Given the description of an element on the screen output the (x, y) to click on. 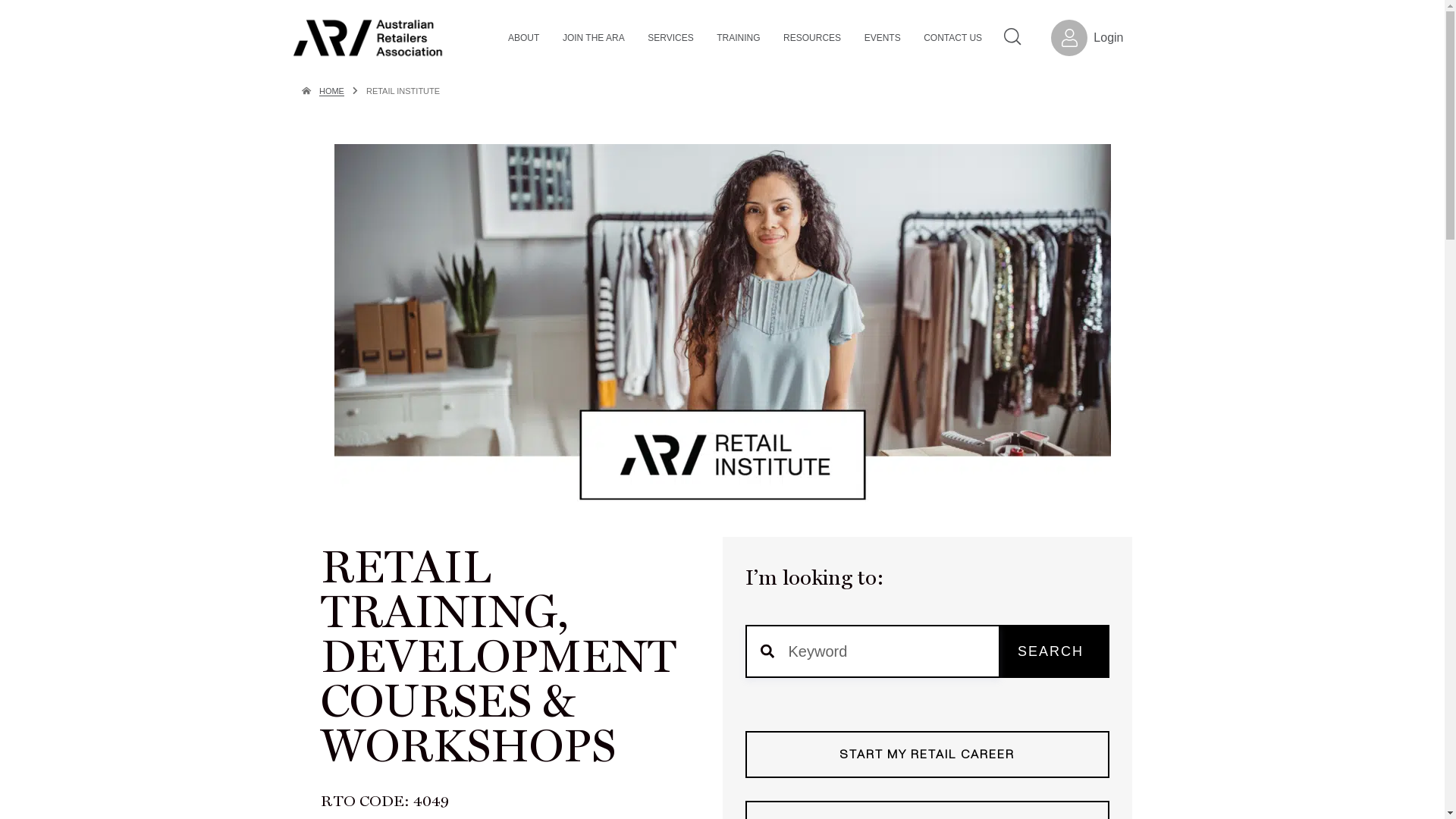
Login Element type: text (1086, 37)
HOME Element type: text (331, 91)
TRAINING Element type: text (739, 37)
SERVICES Element type: text (671, 37)
Search Element type: text (1013, 36)
EVENTS Element type: text (883, 37)
JOIN THE ARA Element type: text (594, 37)
CONTACT US Element type: text (953, 37)
START MY RETAIL CAREER Element type: text (926, 754)
ABOUT Element type: text (525, 37)
SEARCH Element type: text (1049, 650)
RESOURCES Element type: text (813, 37)
